Given the description of an element on the screen output the (x, y) to click on. 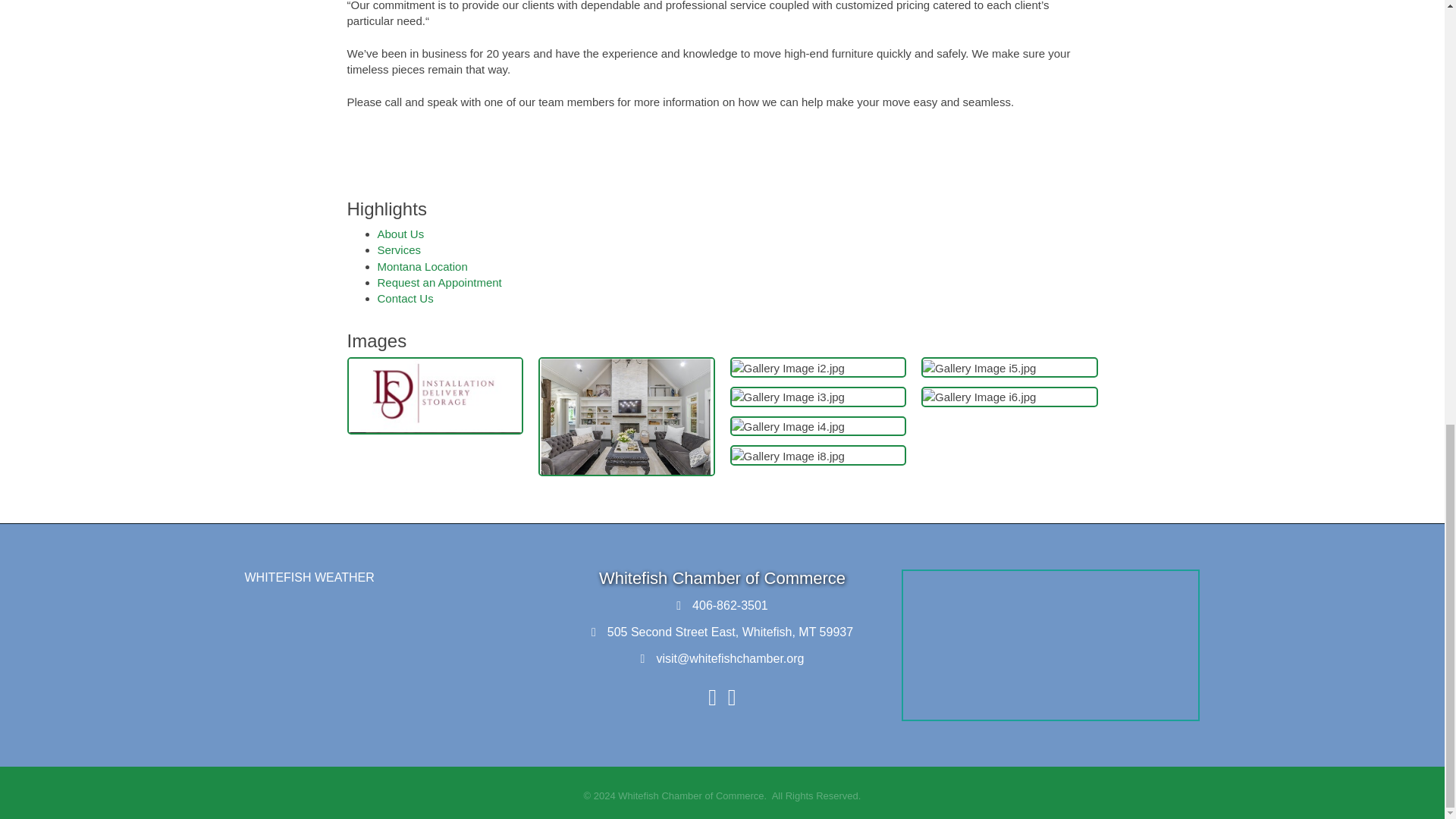
Gallery Image ids.jpg (435, 395)
Gallery Image i4.jpg (787, 426)
Gallery Image i3.jpg (787, 396)
Gallery Image i2.jpg (787, 367)
Gallery Image i1.jpg (626, 416)
